Given the description of an element on the screen output the (x, y) to click on. 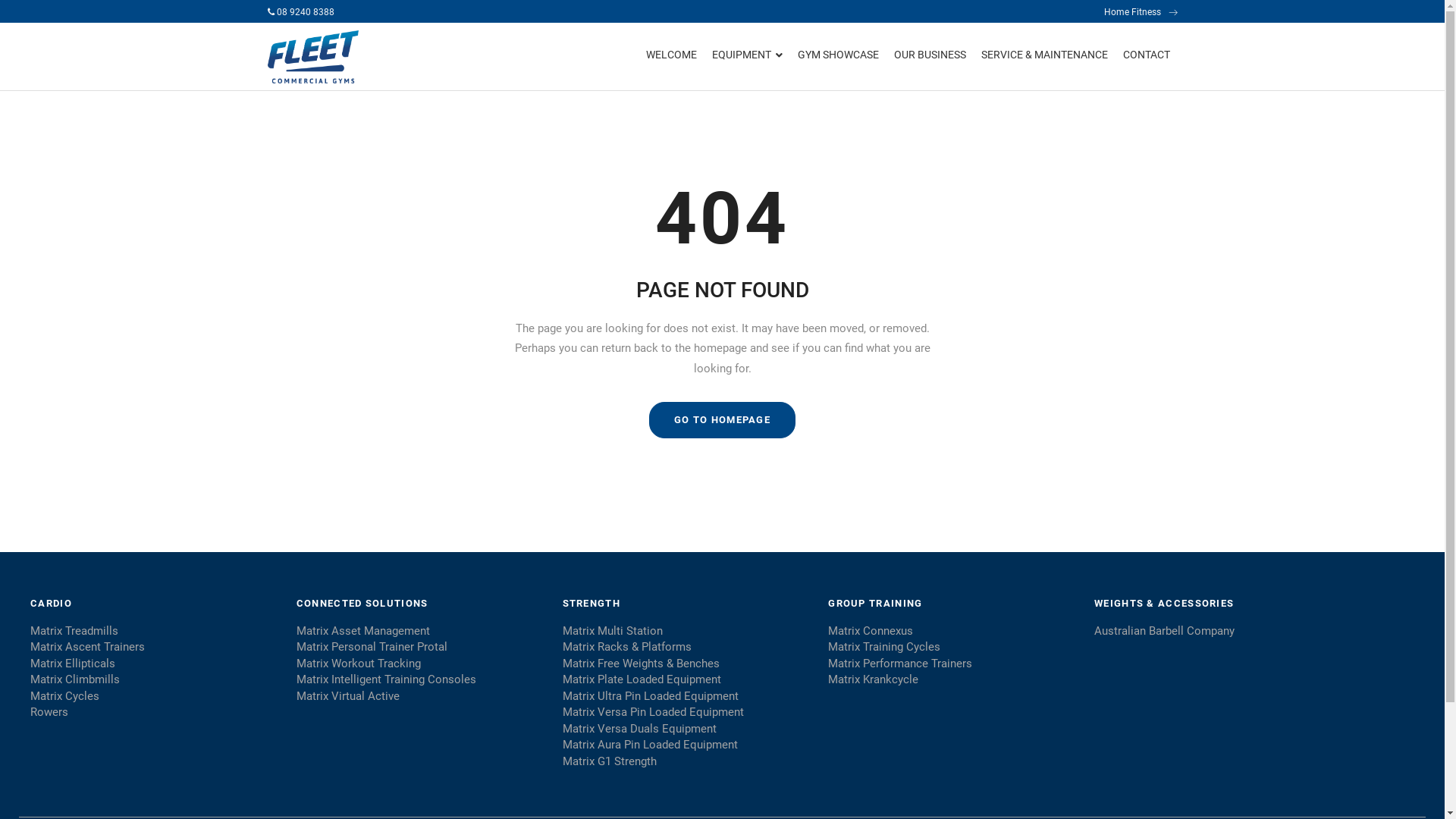
Matrix Ascent Trainers Element type: text (154, 646)
Home Fitness Element type: text (1140, 11)
Matrix Krankcycle Element type: text (952, 679)
GYM SHOWCASE Element type: text (838, 56)
Australian Barbell Company Element type: text (1225, 630)
WELCOME Element type: text (671, 56)
OUR BUSINESS Element type: text (928, 56)
Matrix Ellipticals Element type: text (154, 663)
Matrix Ultra Pin Loaded Equipment Element type: text (686, 696)
Matrix Aura Pin Loaded Equipment Element type: text (686, 744)
CONTACT Element type: text (1145, 56)
Matrix Multi Station Element type: text (686, 630)
Rowers Element type: text (154, 712)
Matrix Cycles Element type: text (154, 696)
Matrix G1 Strength Element type: text (686, 761)
Matrix Climbmills Element type: text (154, 679)
Matrix Virtual Active Element type: text (420, 696)
Matrix Performance Trainers Element type: text (952, 663)
Matrix Asset Management Element type: text (420, 630)
Matrix Plate Loaded Equipment Element type: text (686, 679)
Matrix Free Weights & Benches Element type: text (686, 663)
Matrix Training Cycles Element type: text (952, 646)
Matrix Workout Tracking Element type: text (420, 663)
Matrix Connexus Element type: text (952, 630)
Matrix Personal Trainer Protal Element type: text (420, 646)
SERVICE & MAINTENANCE Element type: text (1044, 56)
08 9240 8388 Element type: text (299, 11)
Matrix Intelligent Training Consoles Element type: text (420, 679)
Matrix Versa Pin Loaded Equipment Element type: text (686, 712)
Matrix Racks & Platforms Element type: text (686, 646)
Matrix Versa Duals Equipment Element type: text (686, 728)
Matrix Treadmills Element type: text (154, 630)
GO TO HOMEPAGE Element type: text (722, 419)
